Given the description of an element on the screen output the (x, y) to click on. 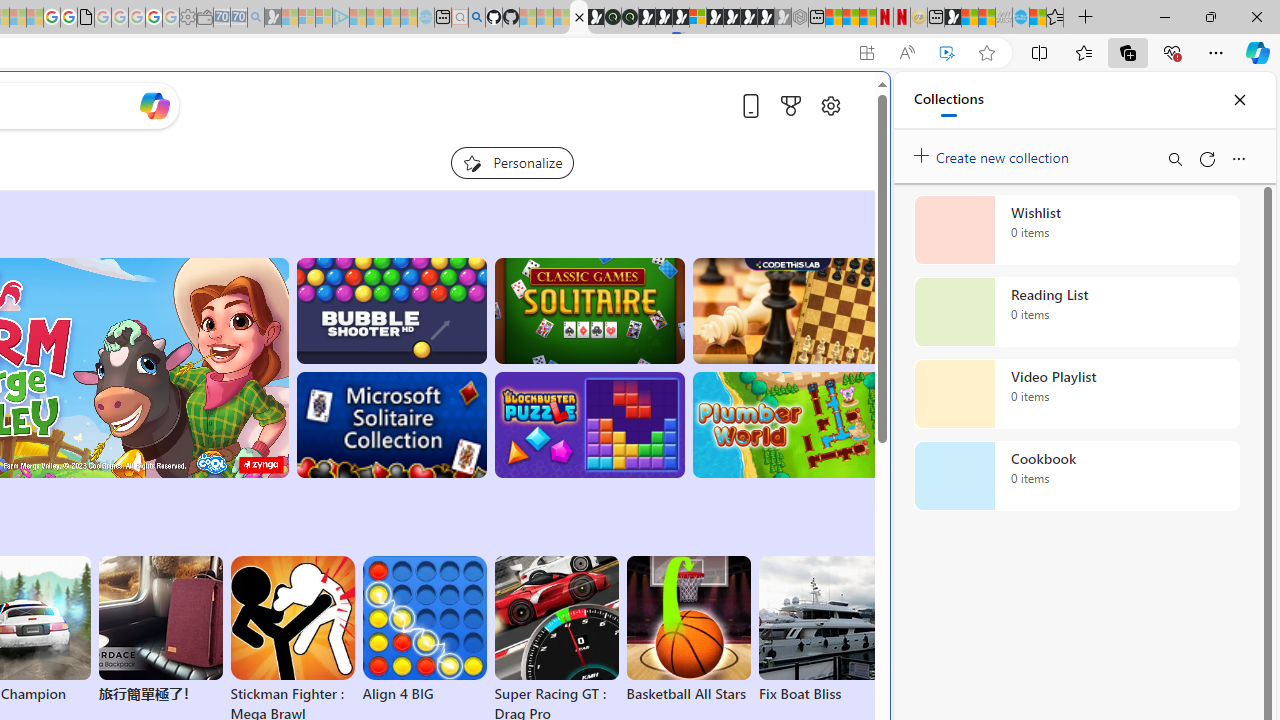
Classic Solitaire (589, 310)
Microsoft Solitaire Collection (390, 425)
BlockBuster: Adventures Puzzle (589, 425)
Earth has six continents not seven, radical new study claims (986, 17)
Video Playlist collection, 0 items (1076, 394)
Basketball All Stars (688, 629)
